Given the description of an element on the screen output the (x, y) to click on. 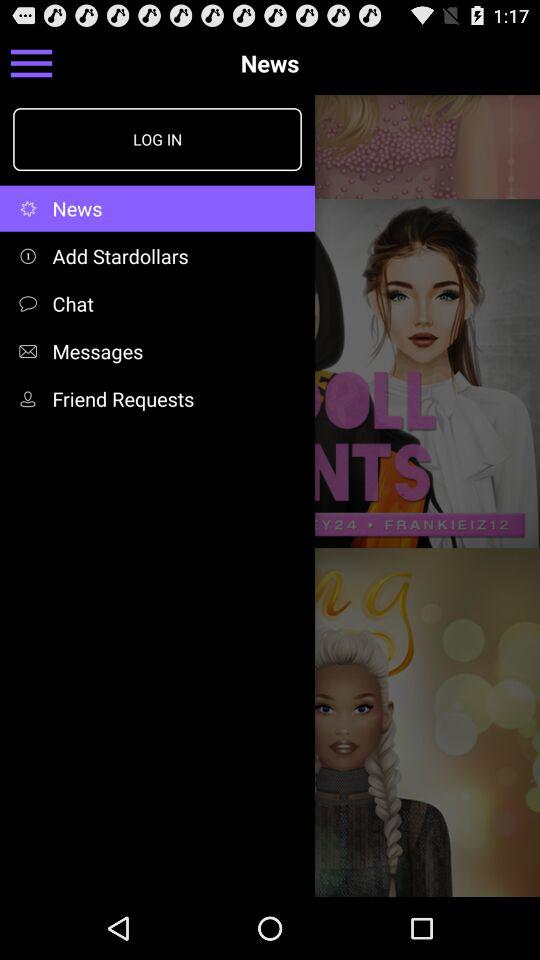
click on icon left to chat (32, 303)
click on the icon beside friend requests (32, 398)
